Given the description of an element on the screen output the (x, y) to click on. 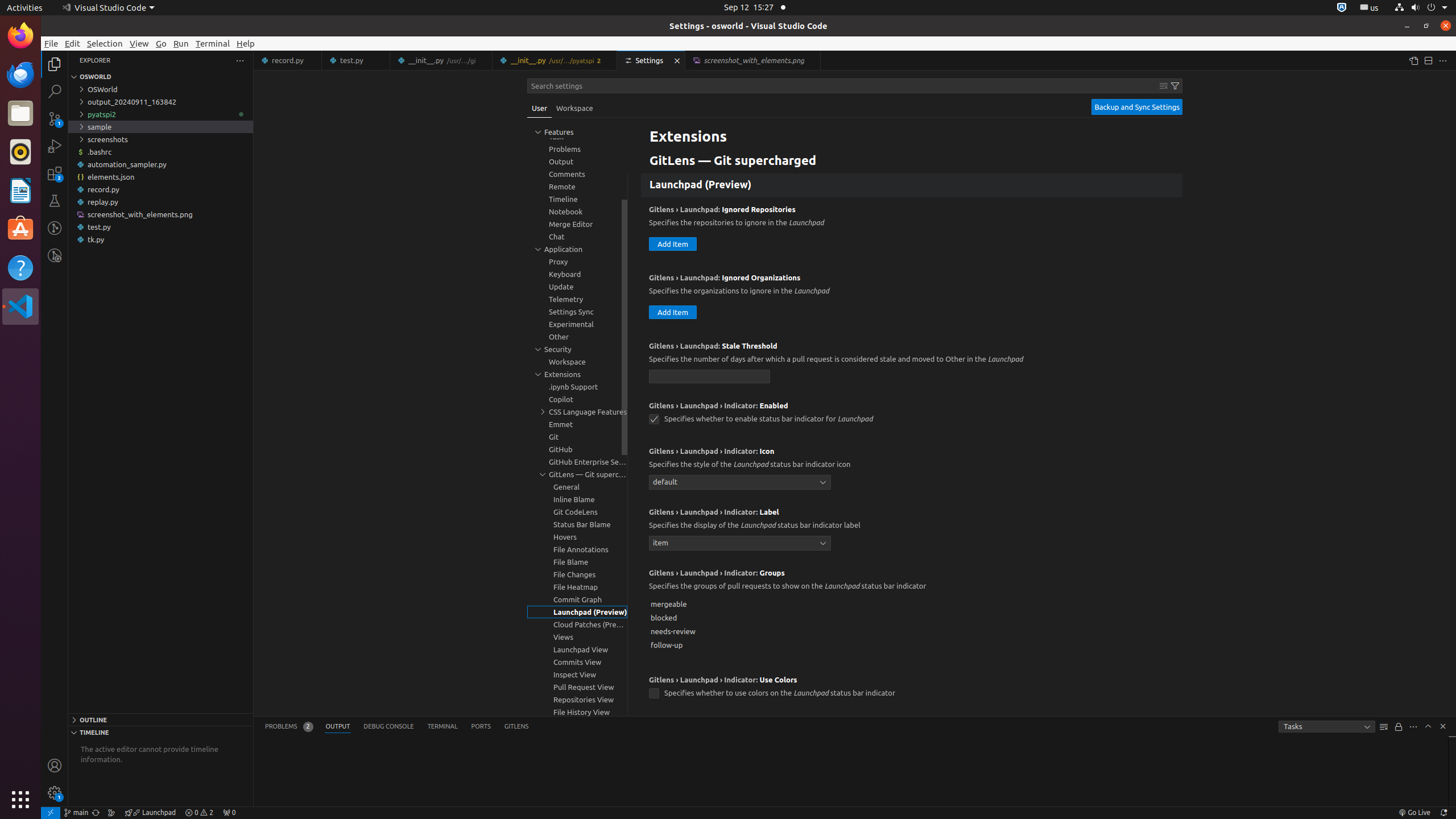
Warnings: 2 Element type: push-button (199, 812)
List item `localBranches` Element type: list-item (911, 120)
Maximize Panel Size Element type: check-box (1427, 726)
Remote, group Element type: tree-item (577, 186)
Source Control (Ctrl+Shift+G G) - 1 pending changes Source Control (Ctrl+Shift+G G) - 1 pending changes Element type: page-tab (54, 118)
